Given the description of an element on the screen output the (x, y) to click on. 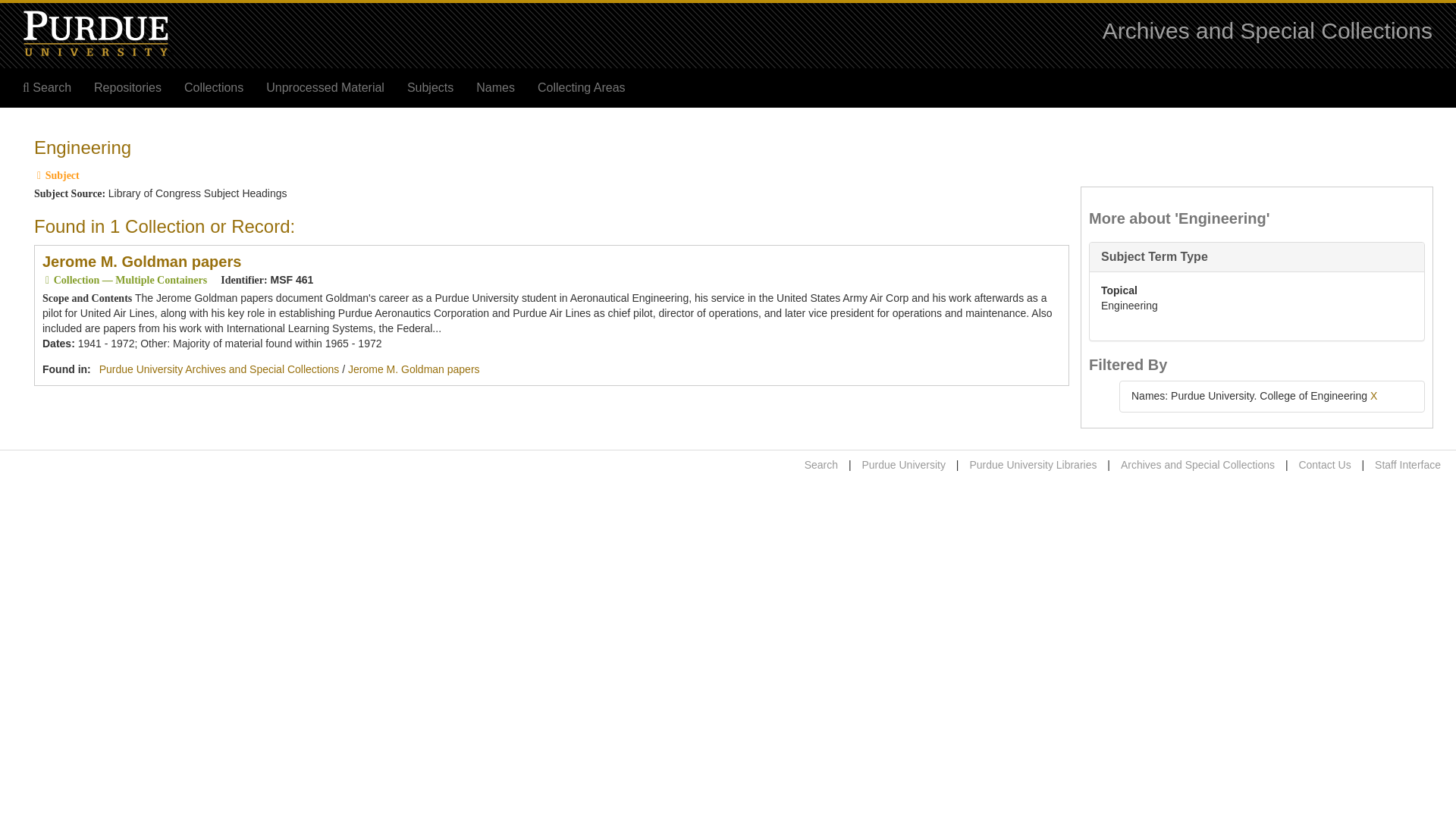
Archives and Special Collections (1267, 30)
Repositories (127, 87)
translation missing: en.dates (56, 343)
Subject Term Type (1154, 256)
Purdue University Archives and Special Collections (219, 369)
Purdue University Libraries (1032, 464)
Page Actions (1139, 130)
Archives and Special Collections (1198, 464)
Search (46, 87)
Collecting Areas (581, 87)
Return to the Archives Home (1267, 30)
Purdue University (902, 464)
Search (821, 464)
Purdue University Home (902, 464)
Staff Interface (1407, 464)
